Given the description of an element on the screen output the (x, y) to click on. 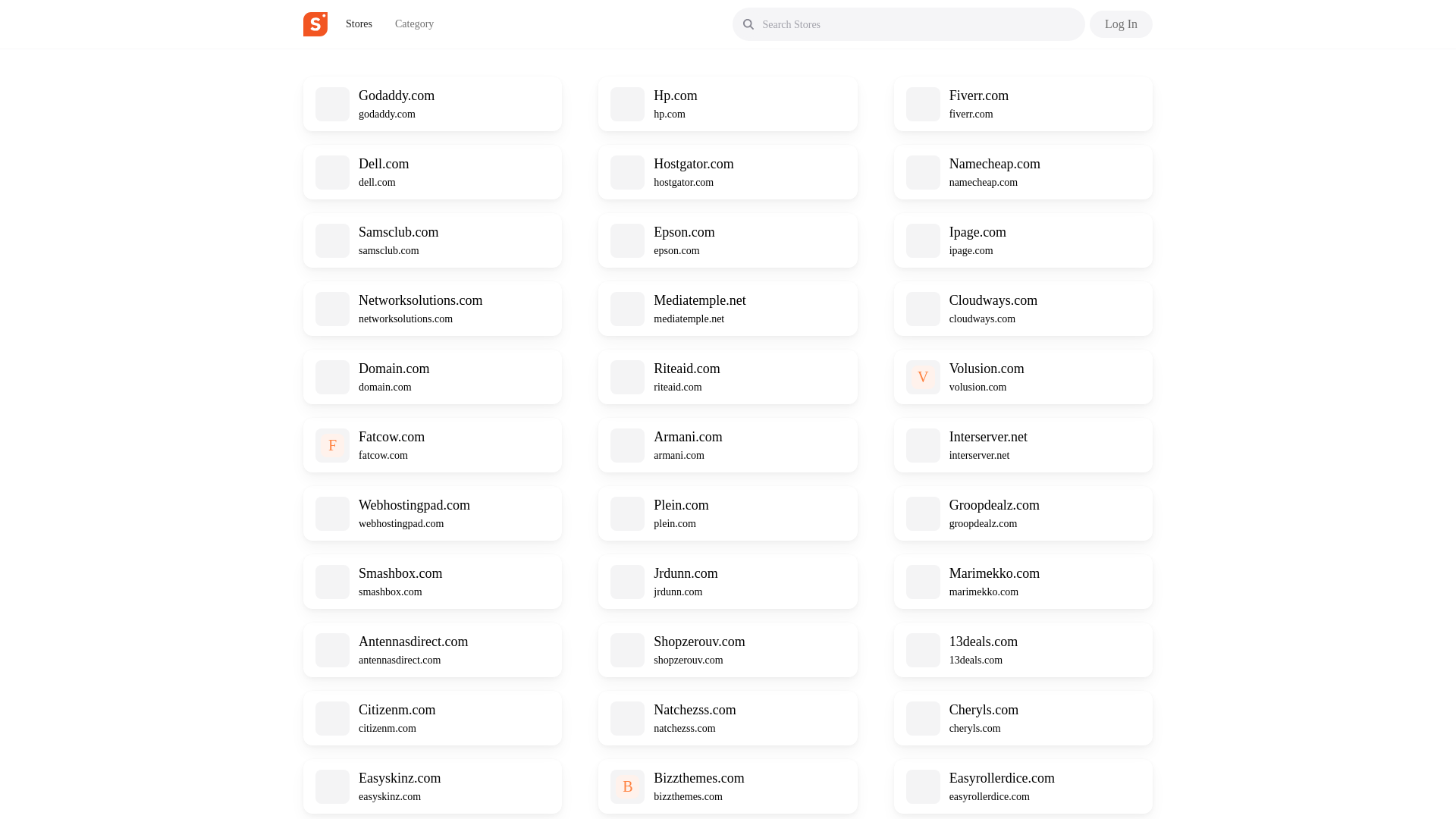
Cloudways.com (993, 299)
Interserver.net (988, 436)
Godaddy.com (395, 95)
Armani.com (687, 436)
Citizenm.com (396, 709)
Plein.com (681, 504)
Namecheap.com (995, 163)
Smashbox.com (400, 572)
Volusion.com (987, 368)
Ipage.com (977, 231)
